Given the description of an element on the screen output the (x, y) to click on. 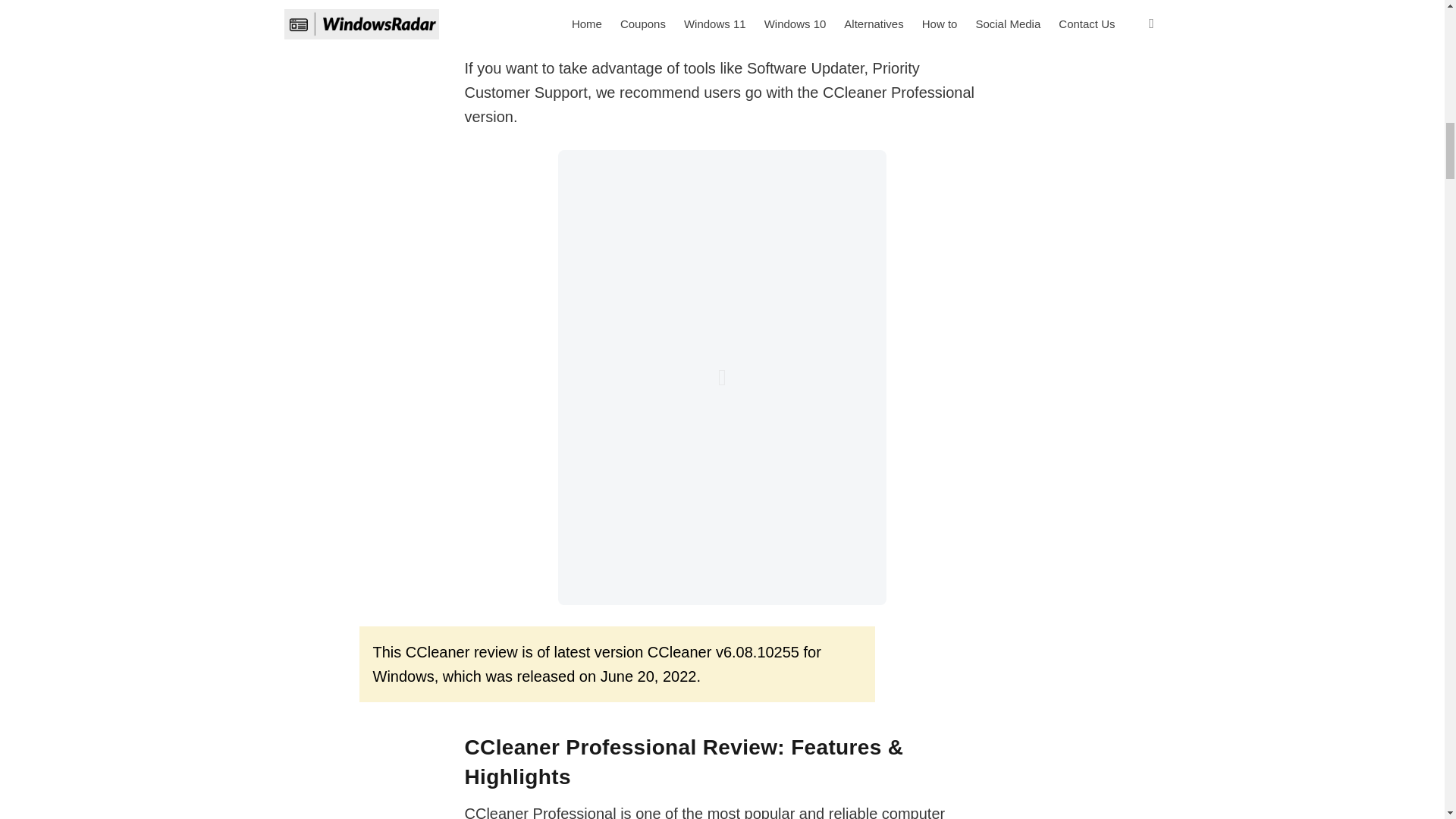
computer cleaning and optimization software (704, 812)
